Given the description of an element on the screen output the (x, y) to click on. 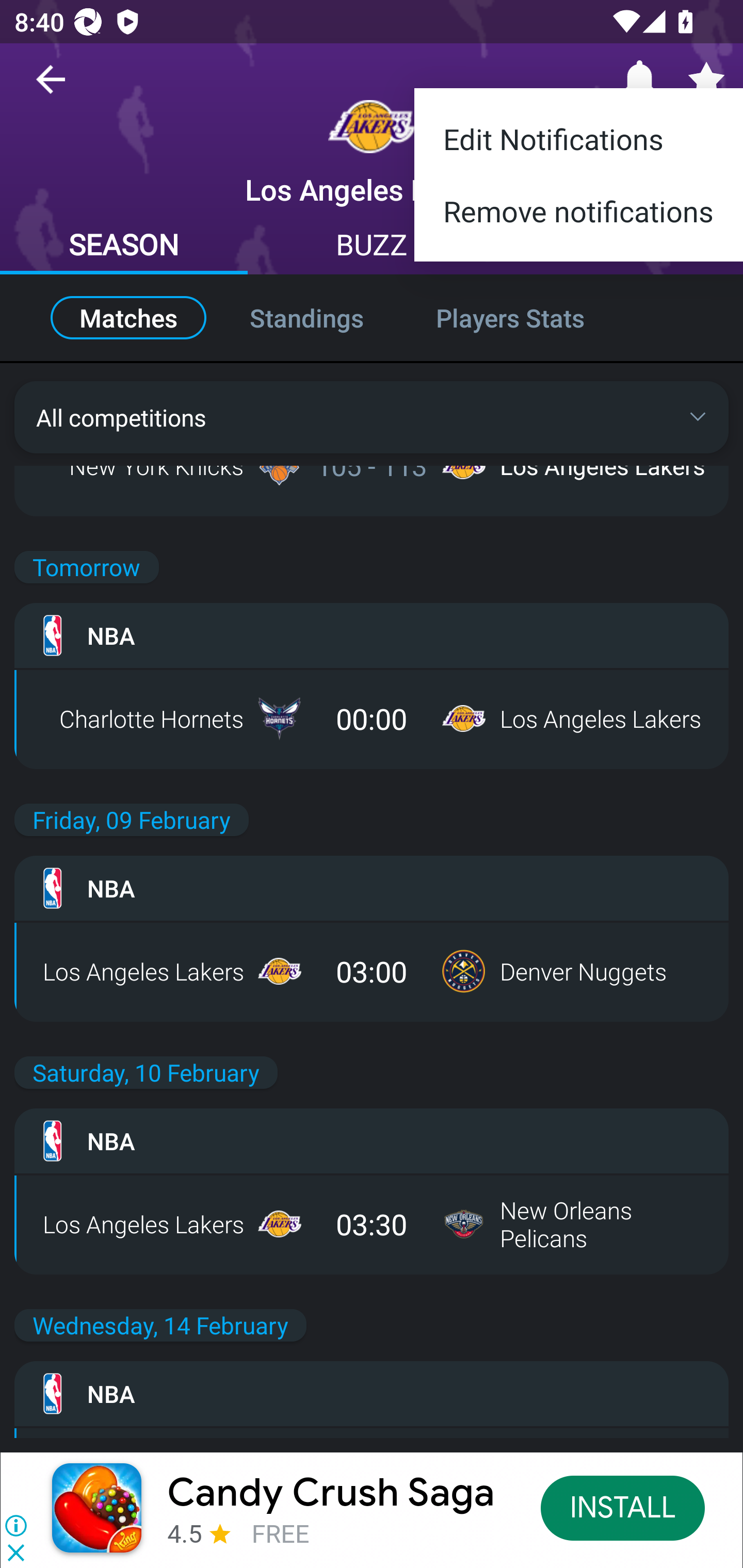
Edit Notifications (578, 131)
Remove notifications (578, 218)
